Given the description of an element on the screen output the (x, y) to click on. 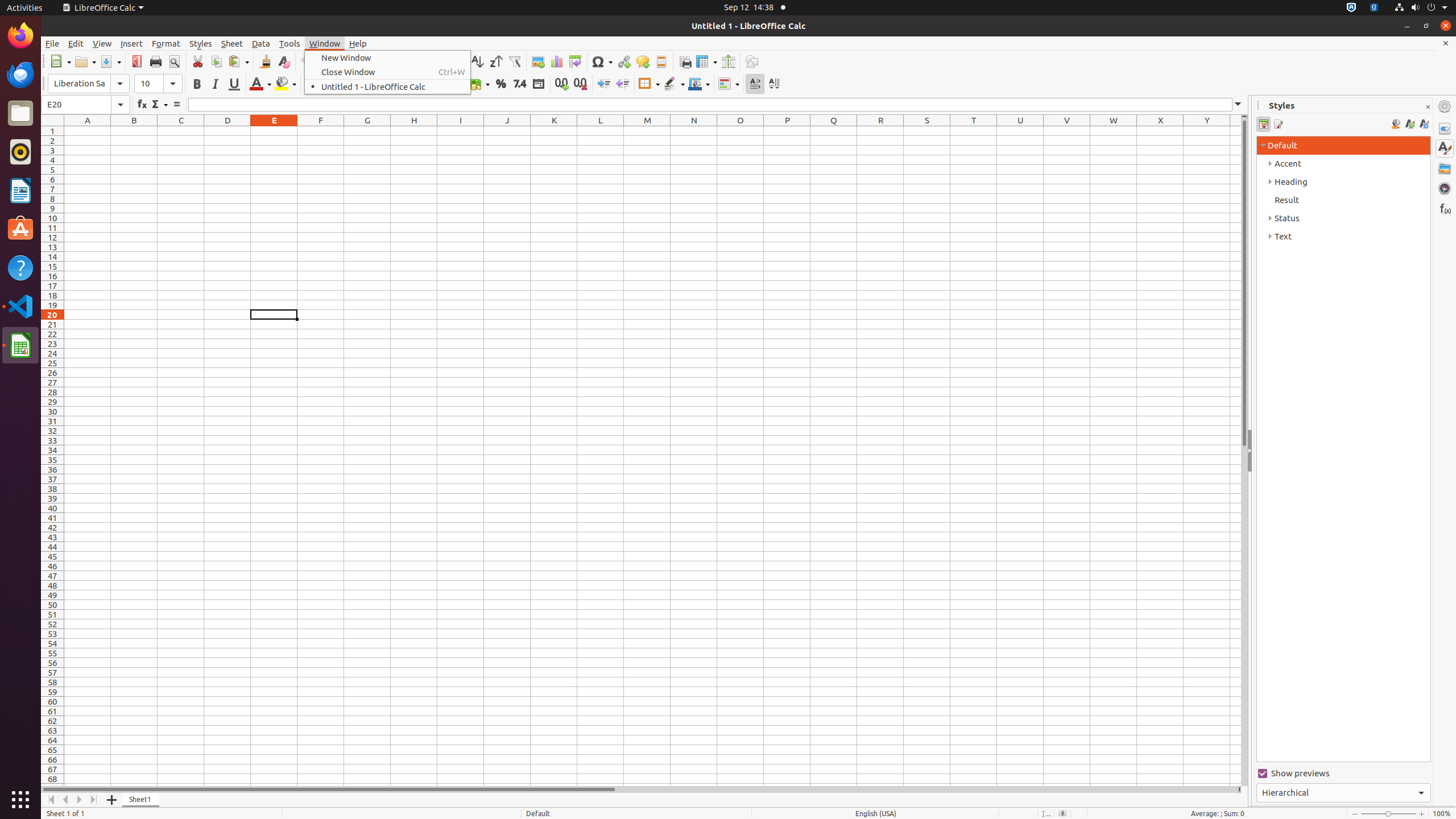
Increase Element type: push-button (603, 83)
M1 Element type: table-cell (646, 130)
Navigator Element type: radio-button (1444, 188)
Tools Element type: menu (289, 43)
File Element type: menu (51, 43)
